Given the description of an element on the screen output the (x, y) to click on. 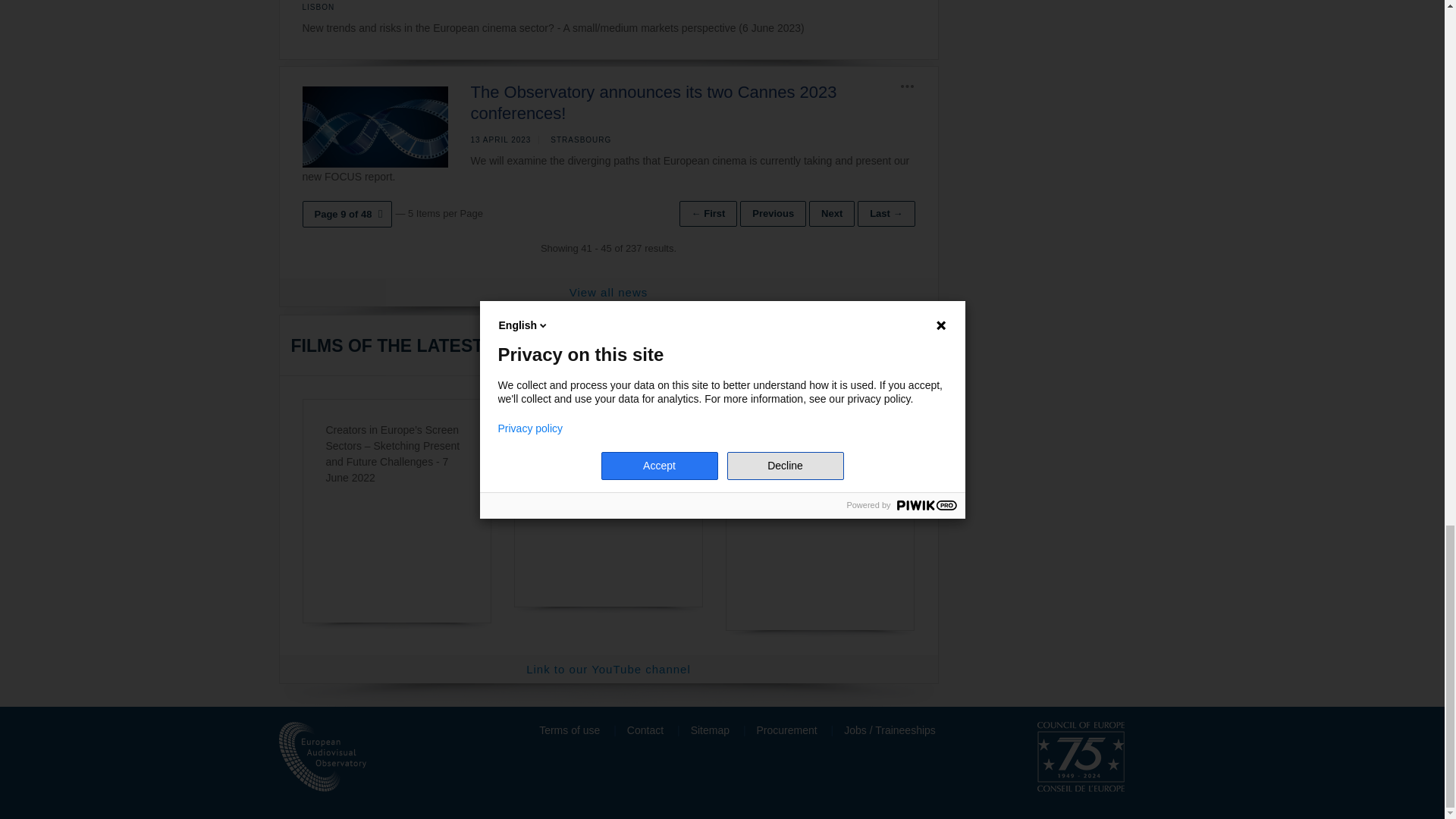
Page 9 of 48 (346, 213)
YouTube video player (608, 524)
YouTube video player (820, 524)
